Given the description of an element on the screen output the (x, y) to click on. 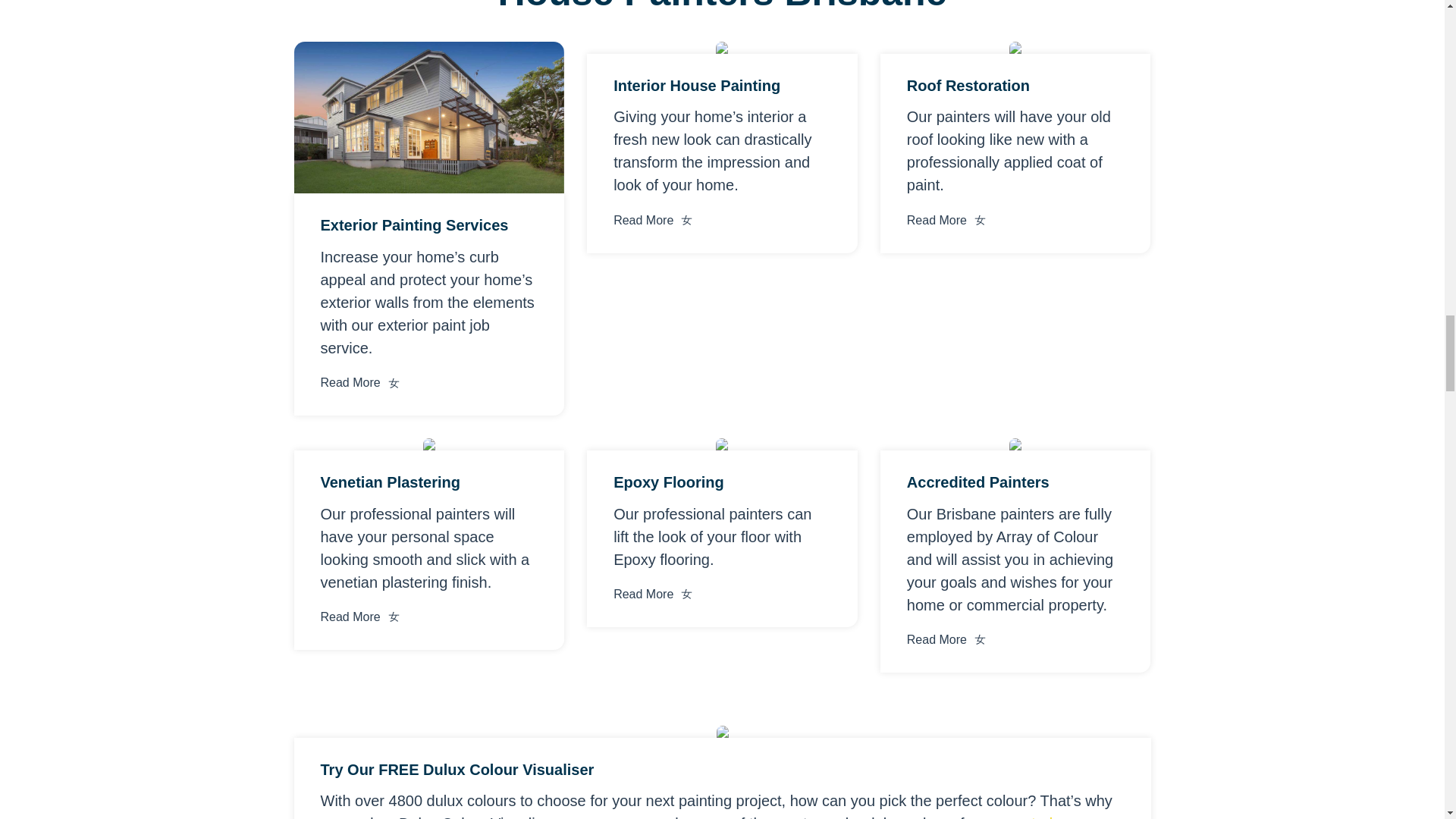
Read More (361, 383)
Read More (948, 639)
Read More (948, 220)
Read More (653, 594)
Read More (653, 220)
Read More (361, 617)
